Given the description of an element on the screen output the (x, y) to click on. 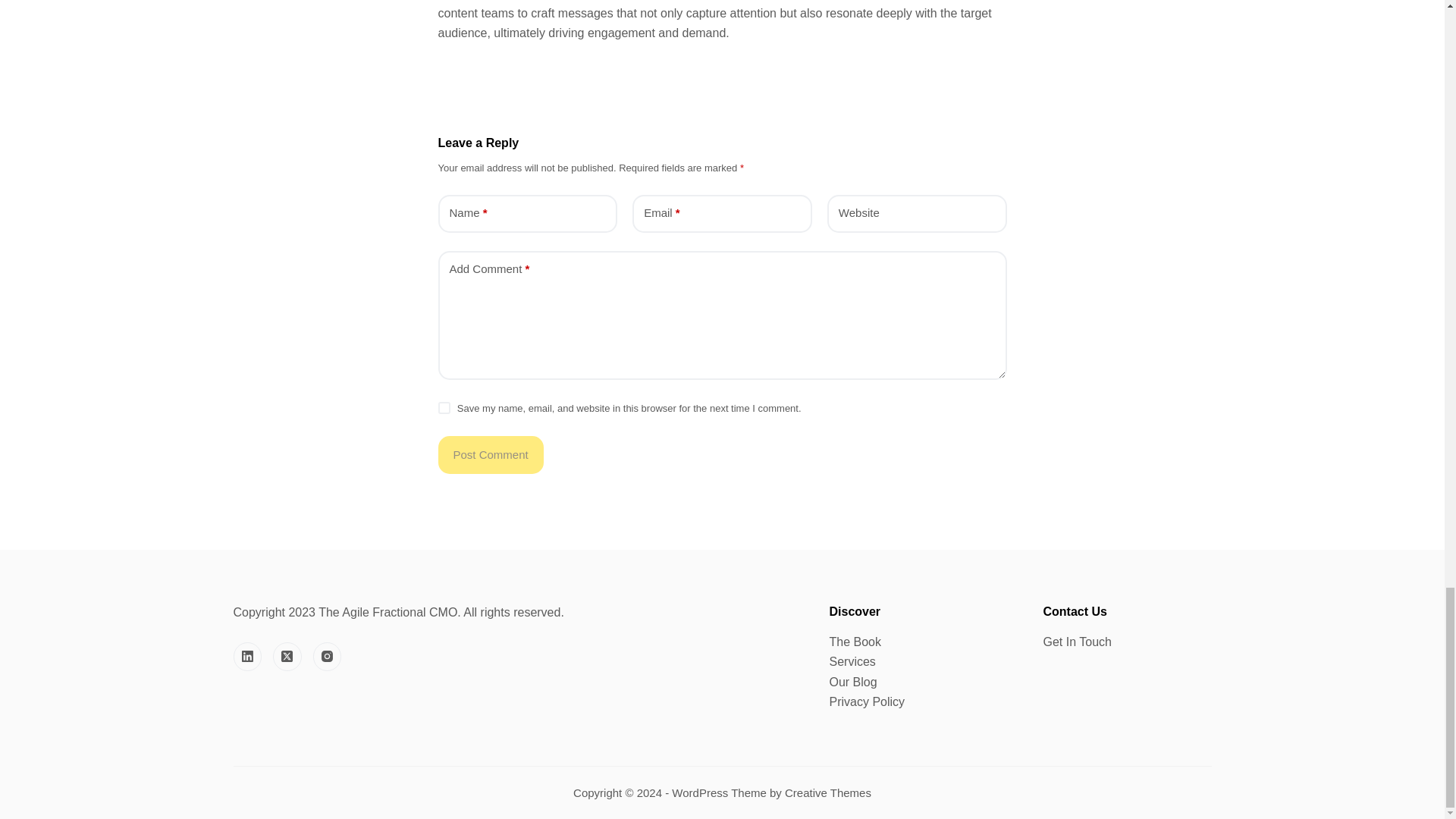
The Book (854, 641)
Post Comment (490, 454)
Privacy Policy (867, 701)
Creative Themes (827, 792)
Get In Touch (1077, 641)
Our Blog (853, 681)
Services (852, 661)
yes (443, 408)
